Given the description of an element on the screen output the (x, y) to click on. 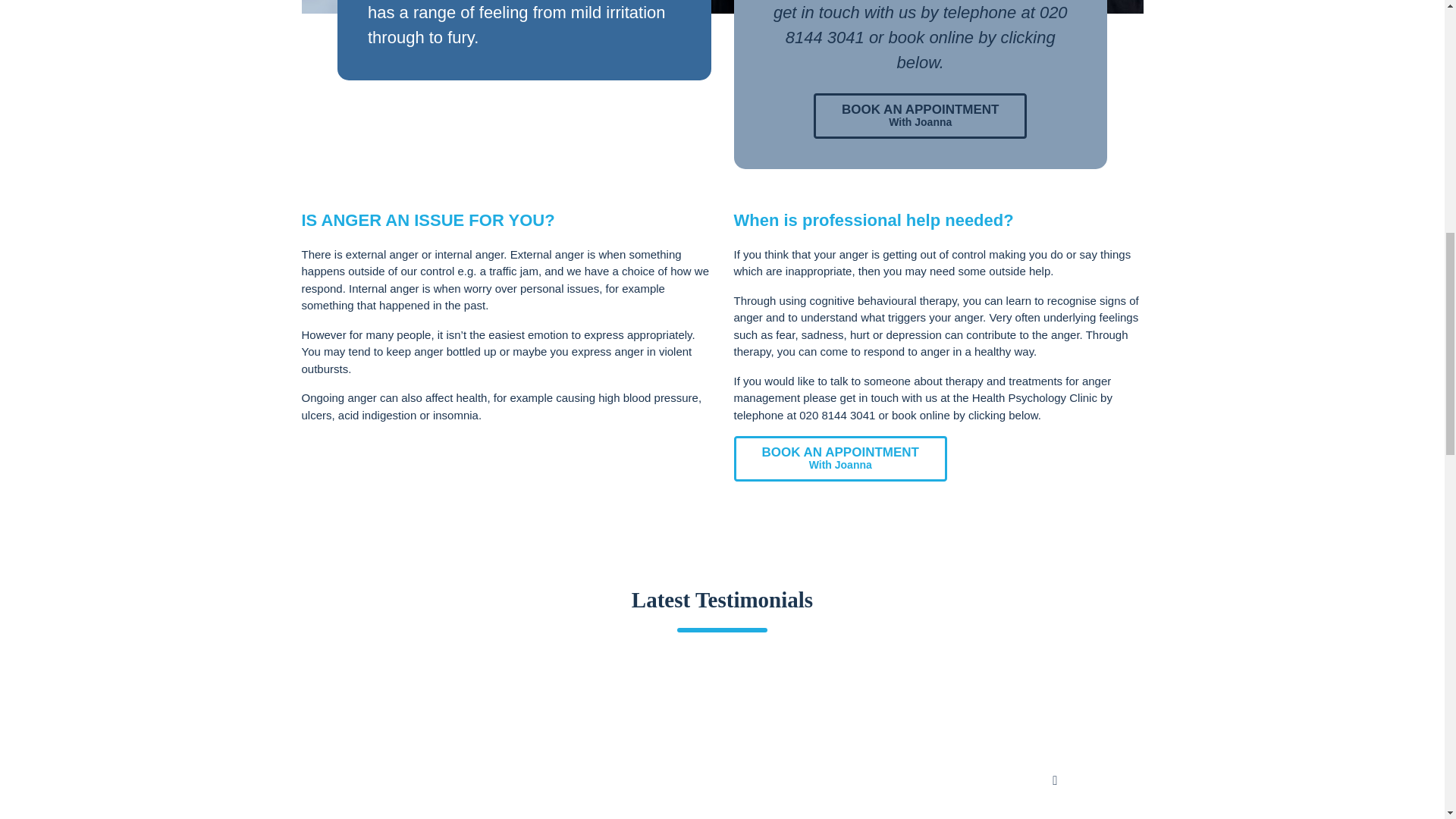
Anger Management (721, 6)
